Given the description of an element on the screen output the (x, y) to click on. 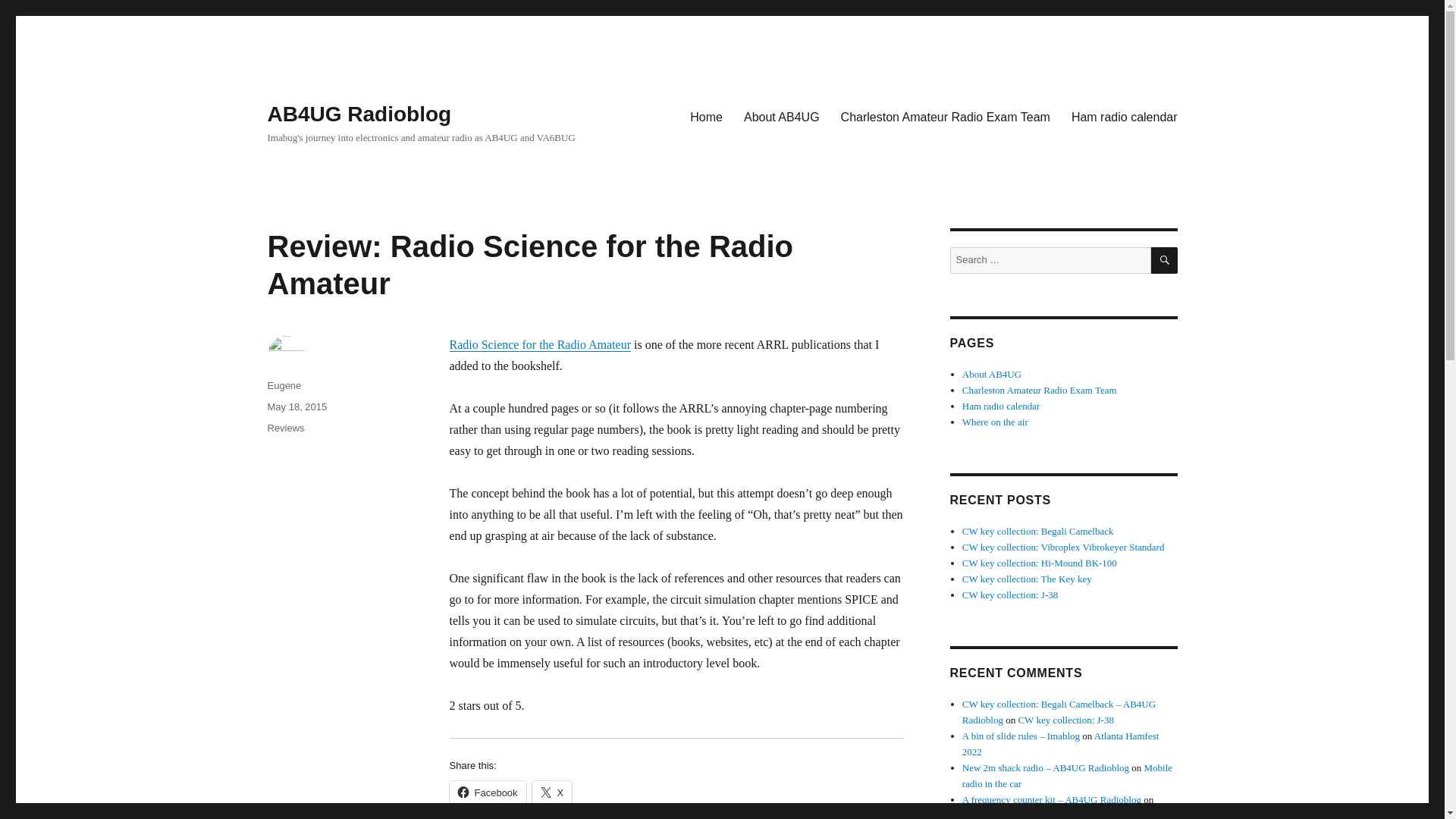
X (552, 792)
CW key collection: Hi-Mound BK-100 (1039, 562)
Reviews (285, 428)
SEARCH (1164, 260)
Eugene (283, 385)
AB4UG Radioblog (358, 114)
Home (706, 116)
CW key collection: J-38 (1065, 719)
Mobile radio in the car (1067, 775)
Charleston Amateur Radio Exam Team (945, 116)
